Given the description of an element on the screen output the (x, y) to click on. 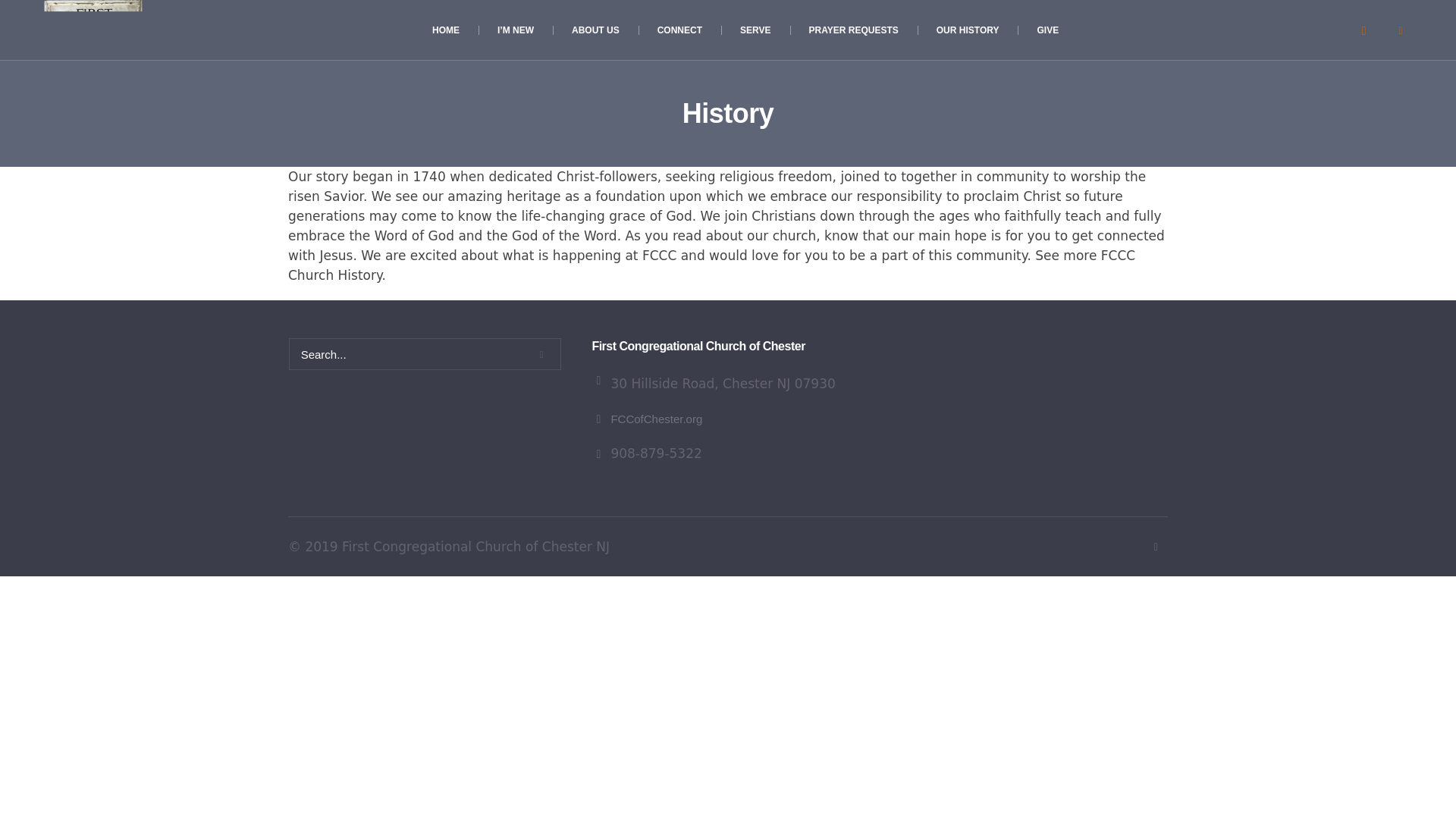
ABOUT US (596, 29)
PRAYER REQUESTS (853, 29)
CONNECT (679, 29)
OUR HISTORY (967, 29)
HOME (446, 29)
GIVE (1047, 29)
Facebook (1400, 29)
SERVE (754, 29)
